Given the description of an element on the screen output the (x, y) to click on. 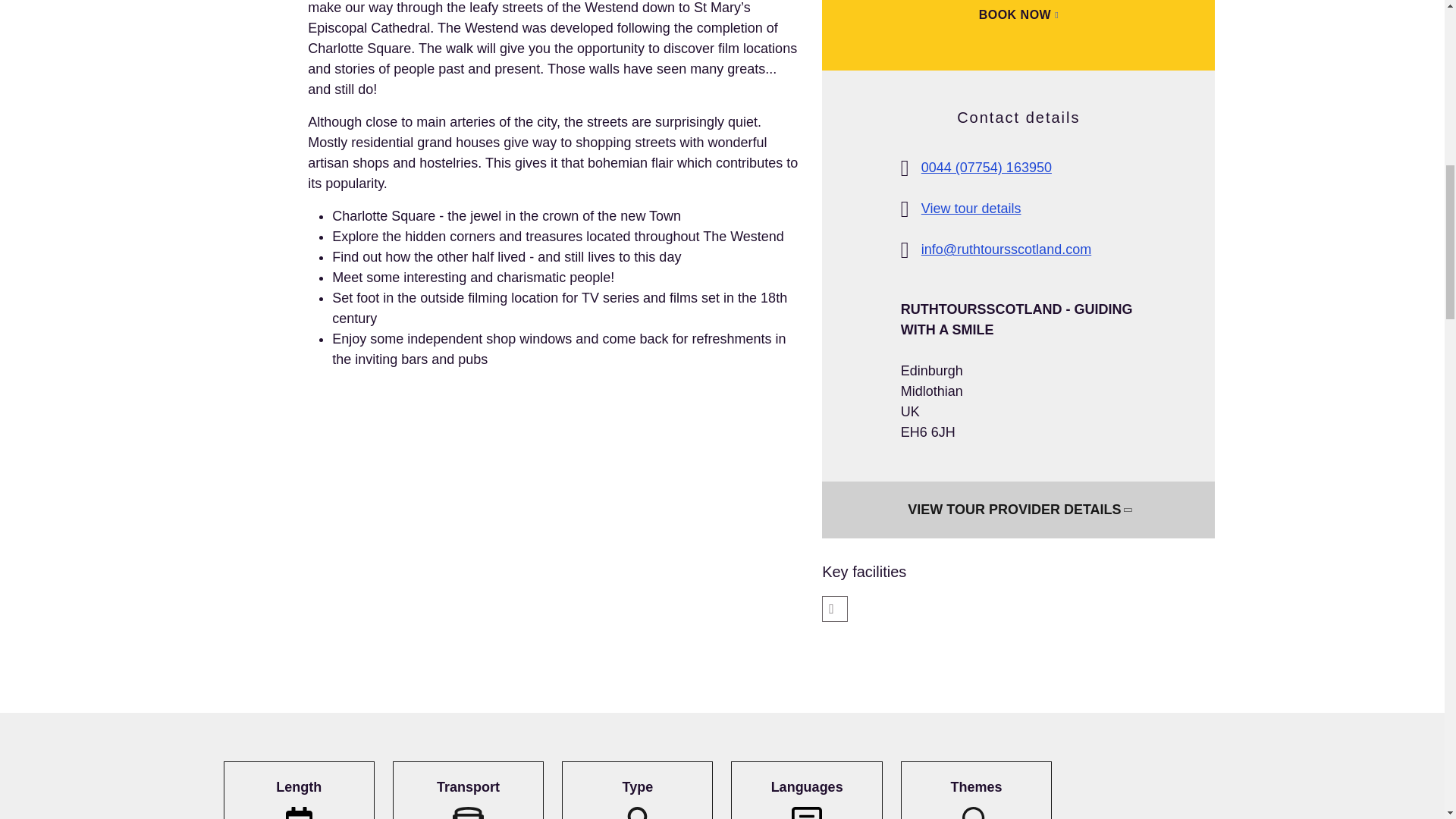
Scroll Down (1018, 509)
